Given the description of an element on the screen output the (x, y) to click on. 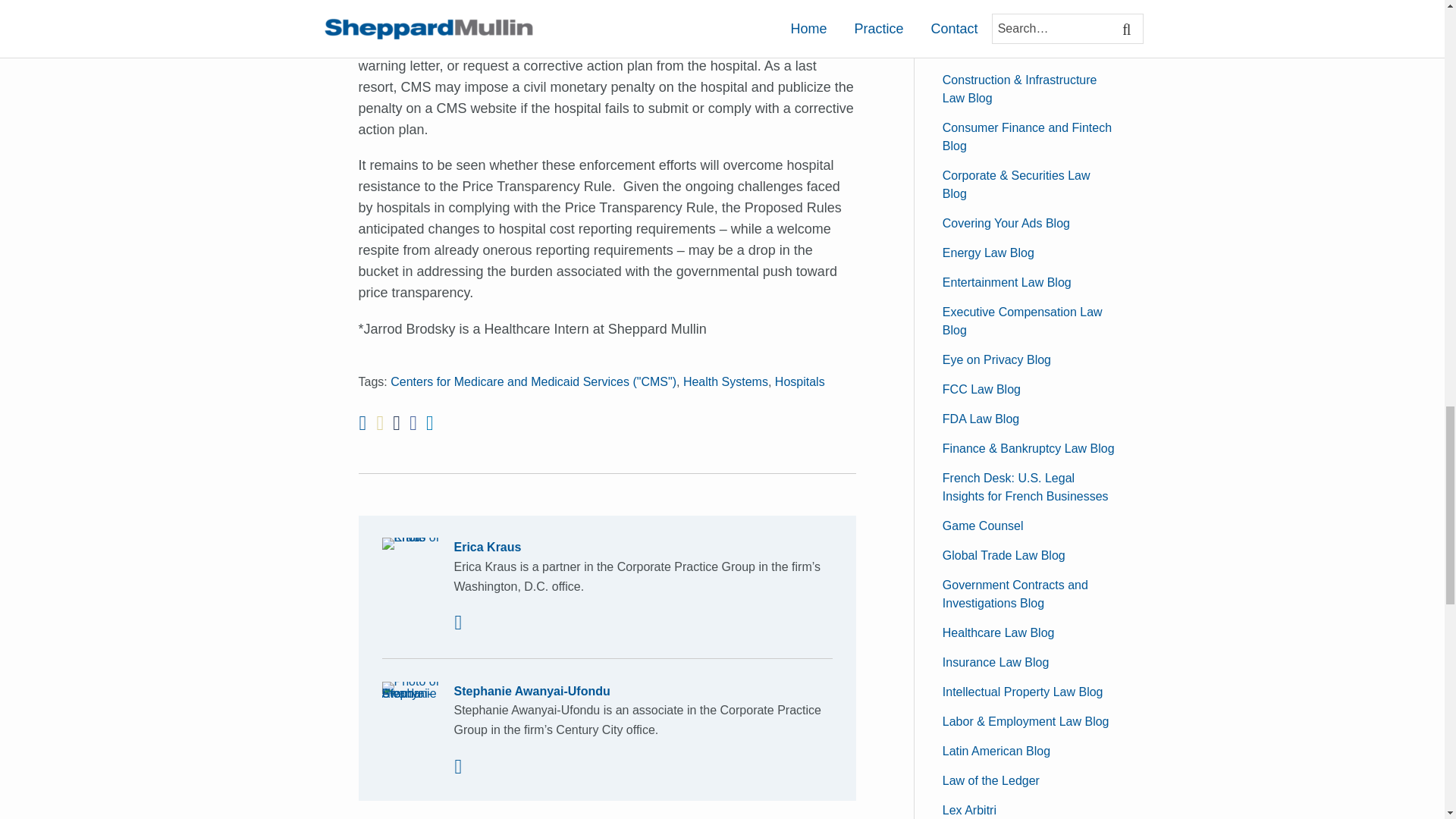
Health Systems (725, 381)
Stephanie Awanyai-Ufondu (606, 691)
Erica Kraus (606, 547)
Hospitals (799, 381)
